Given the description of an element on the screen output the (x, y) to click on. 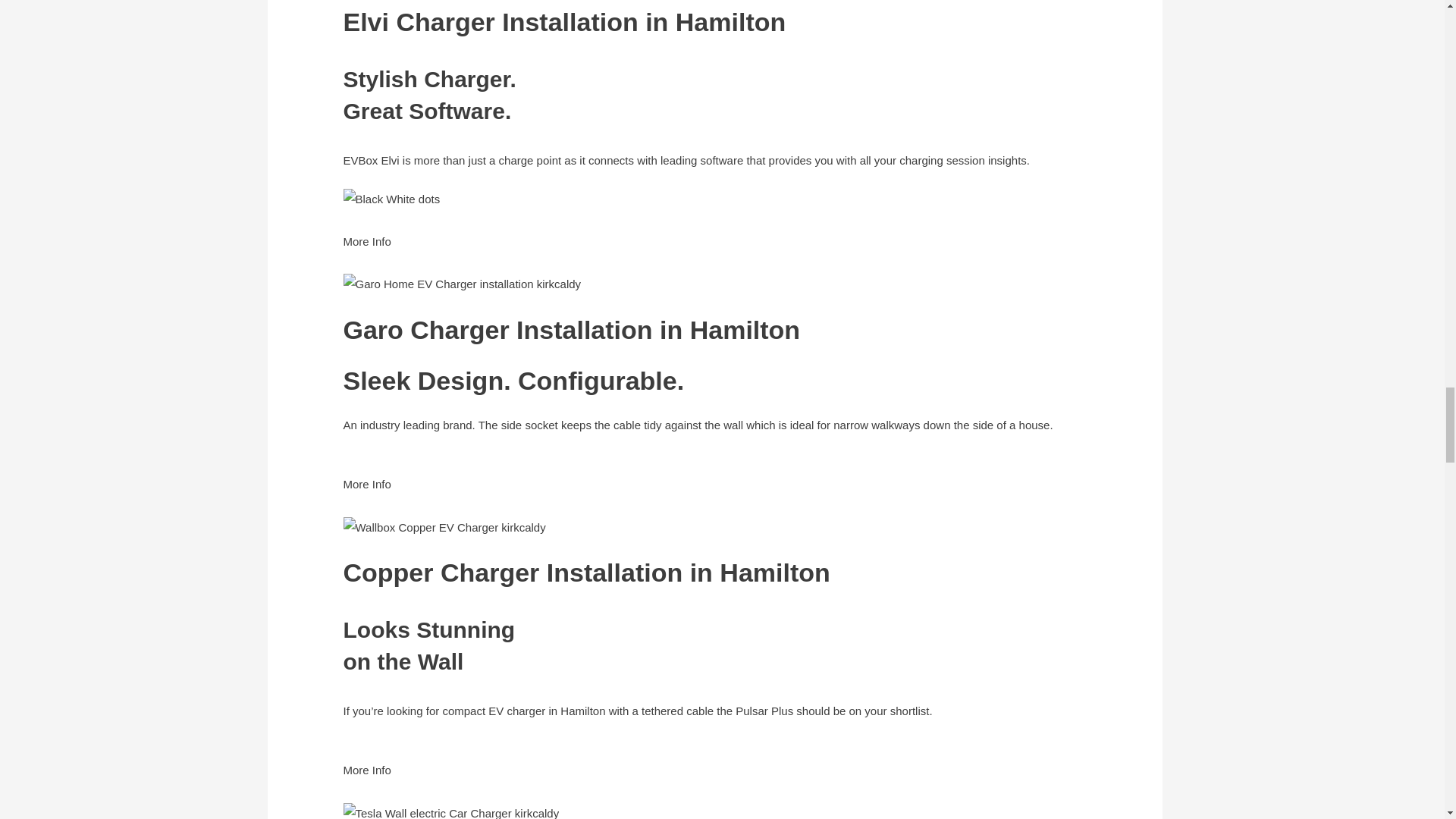
More Info (366, 780)
More Info (366, 494)
More Info (366, 252)
